Given the description of an element on the screen output the (x, y) to click on. 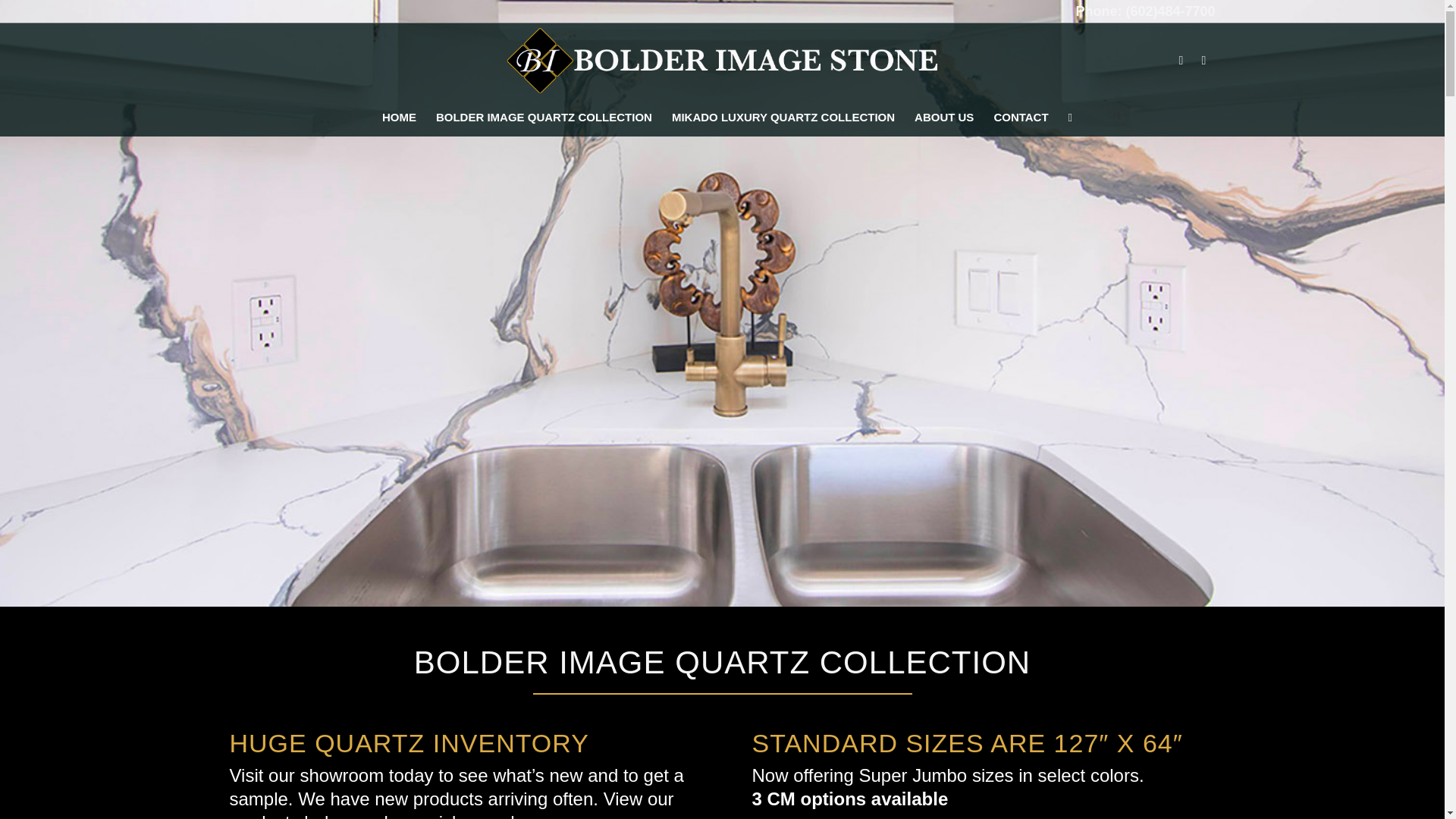
Facebook (1180, 60)
Instagram (1203, 60)
MIKADO LUXURY QUARTZ COLLECTION (783, 117)
CONTACT (1021, 117)
Quartz Stone Slabs (399, 117)
Bolder Image Stone Logo (722, 60)
ABOUT US (944, 117)
PREMIUM QUARTZ STONE SLABS SLABS (544, 117)
BOLDER IMAGE QUARTZ COLLECTION (544, 117)
HOME (399, 117)
